Given the description of an element on the screen output the (x, y) to click on. 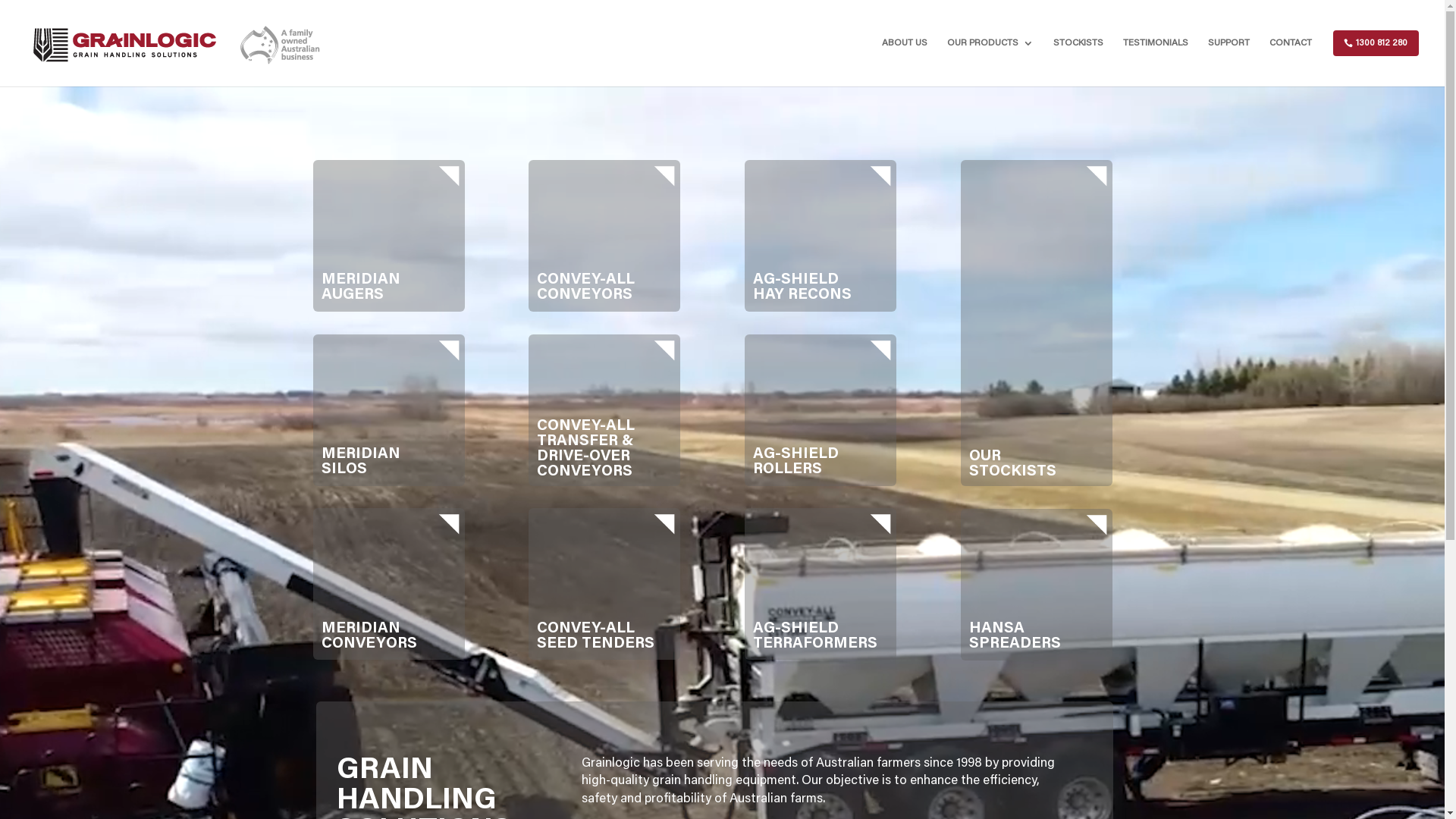
ABOUT US Element type: text (904, 57)
STOCKISTS Element type: text (1078, 57)
OUR PRODUCTS Element type: text (990, 57)
SUPPORT Element type: text (1228, 57)
CONTACT Element type: text (1290, 57)
1300 812 280 Element type: text (1375, 57)
TESTIMONIALS Element type: text (1155, 57)
